Given the description of an element on the screen output the (x, y) to click on. 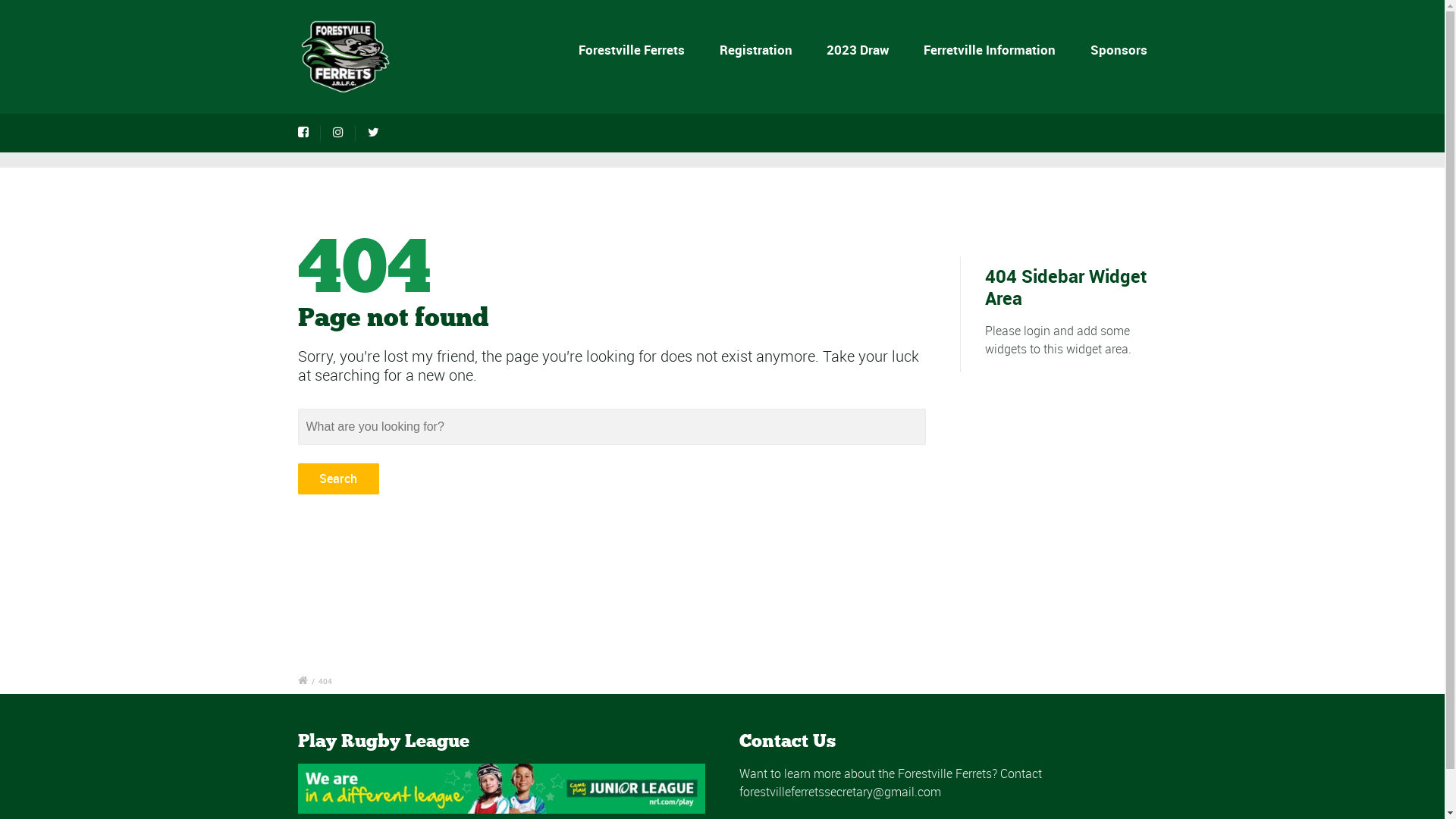
Search Element type: text (338, 478)
Forestville Ferrets Element type: text (631, 49)
Play Rugby League Element type: hover (501, 788)
Ferretville Information Element type: text (989, 49)
Sponsors Element type: text (1116, 49)
2023 Draw Element type: text (858, 49)
Registration Element type: text (755, 49)
